Given the description of an element on the screen output the (x, y) to click on. 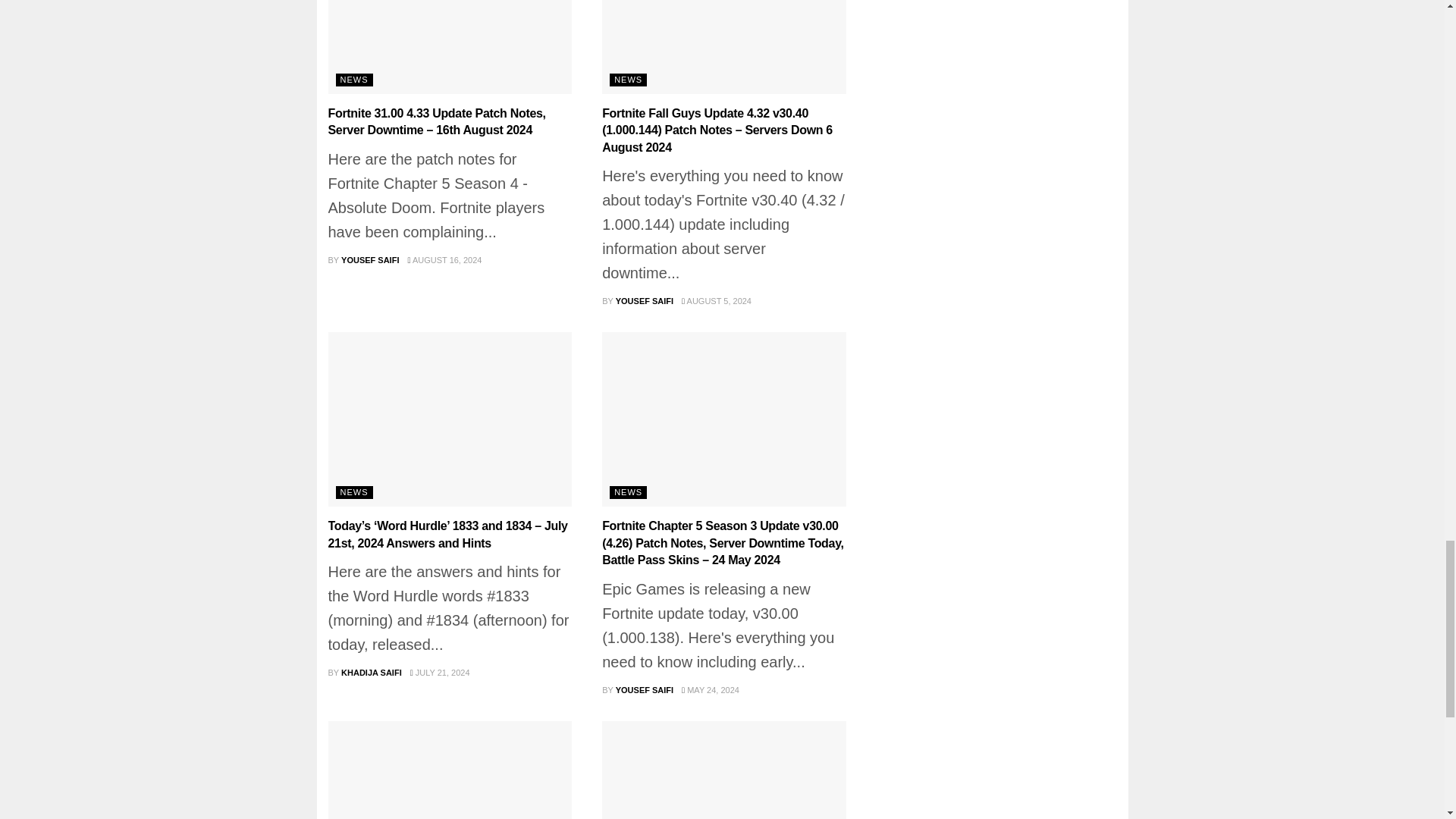
AUGUST 16, 2024 (444, 259)
NEWS (628, 492)
NEWS (353, 492)
YOUSEF SAIFI (643, 300)
NEWS (353, 79)
AUGUST 5, 2024 (716, 300)
JULY 21, 2024 (440, 672)
YOUSEF SAIFI (643, 689)
NEWS (628, 79)
YOUSEF SAIFI (369, 259)
